Given the description of an element on the screen output the (x, y) to click on. 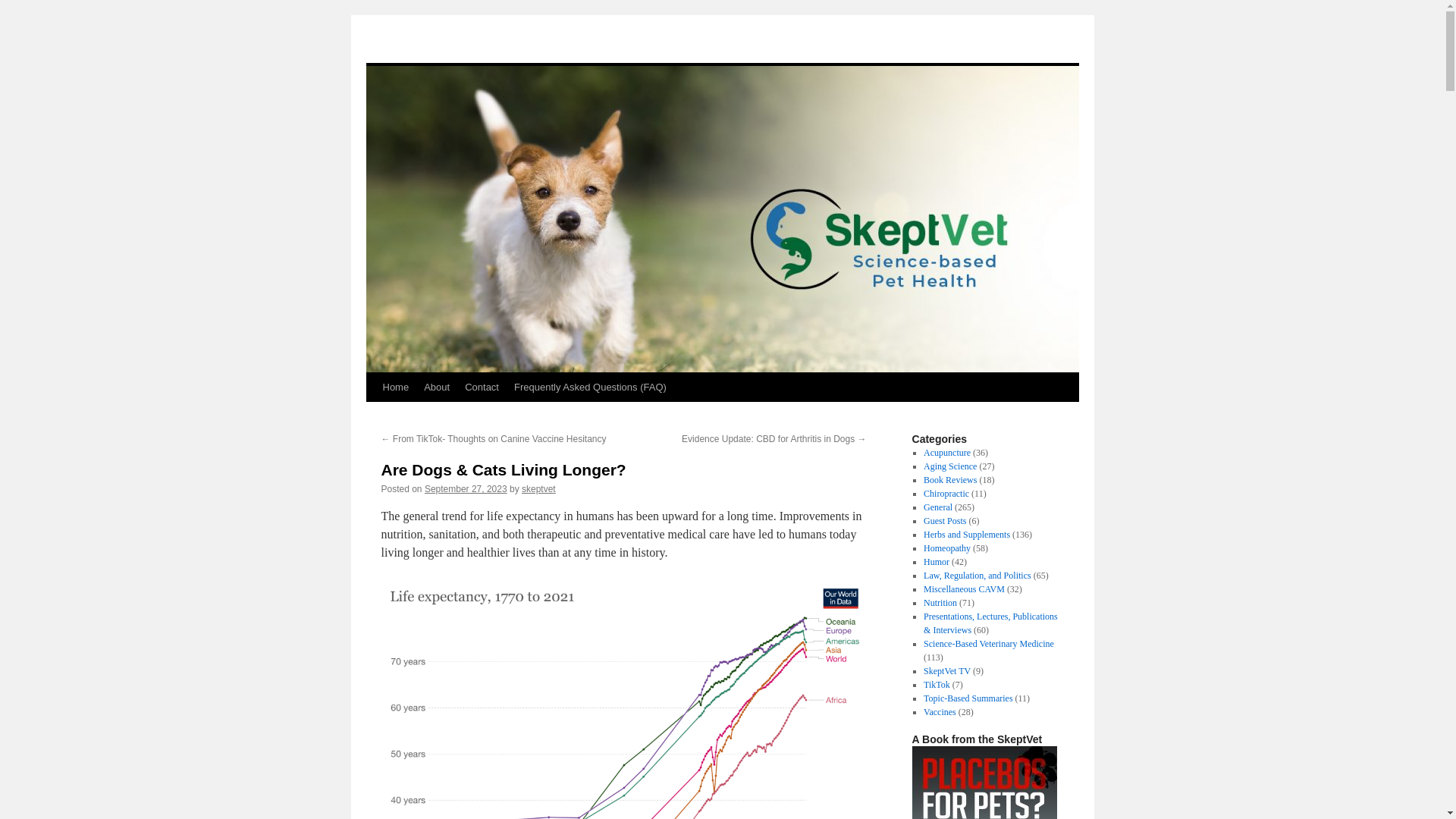
10:58 am (465, 489)
skeptvet (538, 489)
Contact (481, 387)
Skip to content (372, 415)
September 27, 2023 (465, 489)
About (436, 387)
View all posts by skeptvet (538, 489)
Home (395, 387)
